Given the description of an element on the screen output the (x, y) to click on. 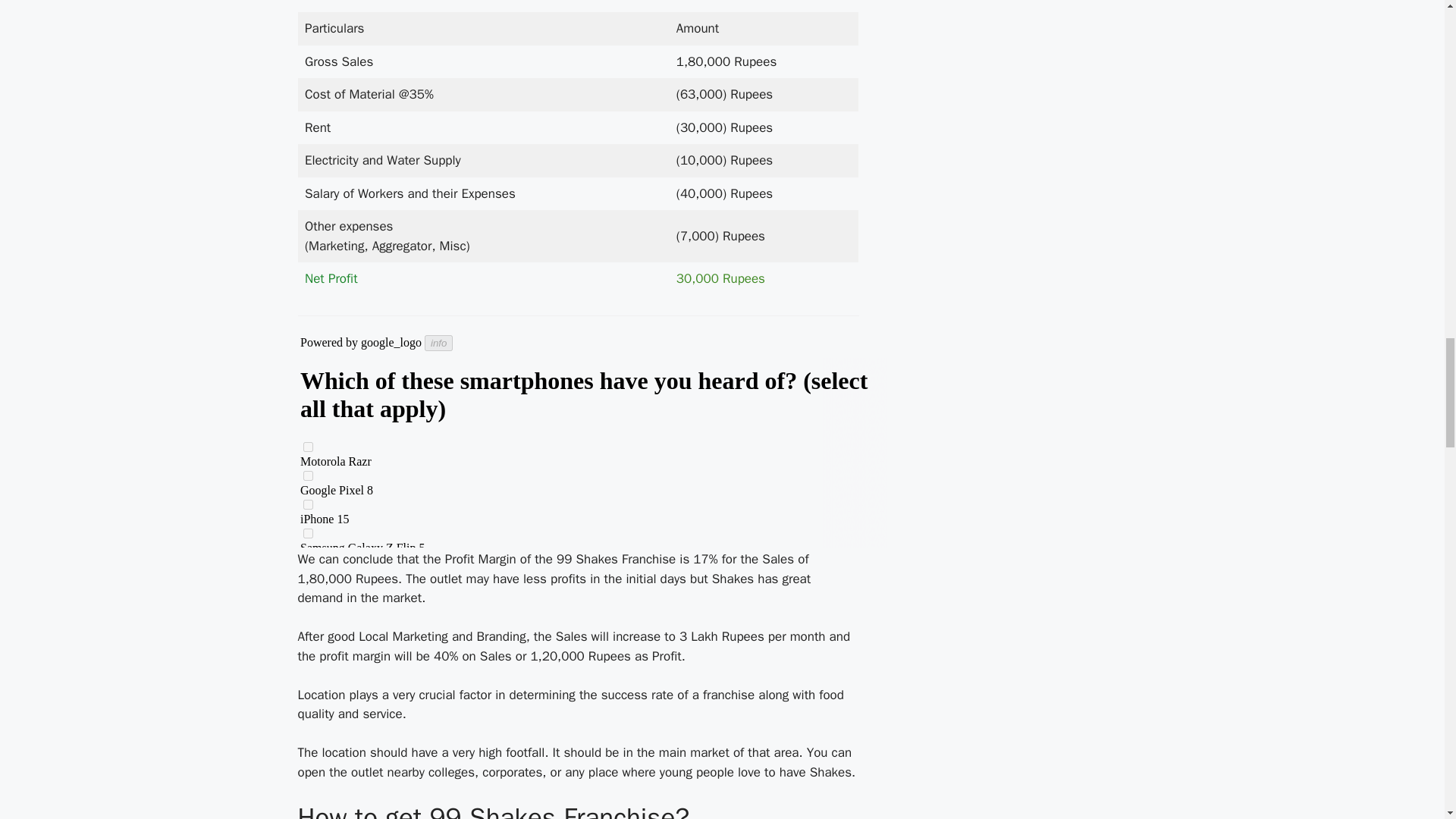
Advertisement (592, 440)
